Given the description of an element on the screen output the (x, y) to click on. 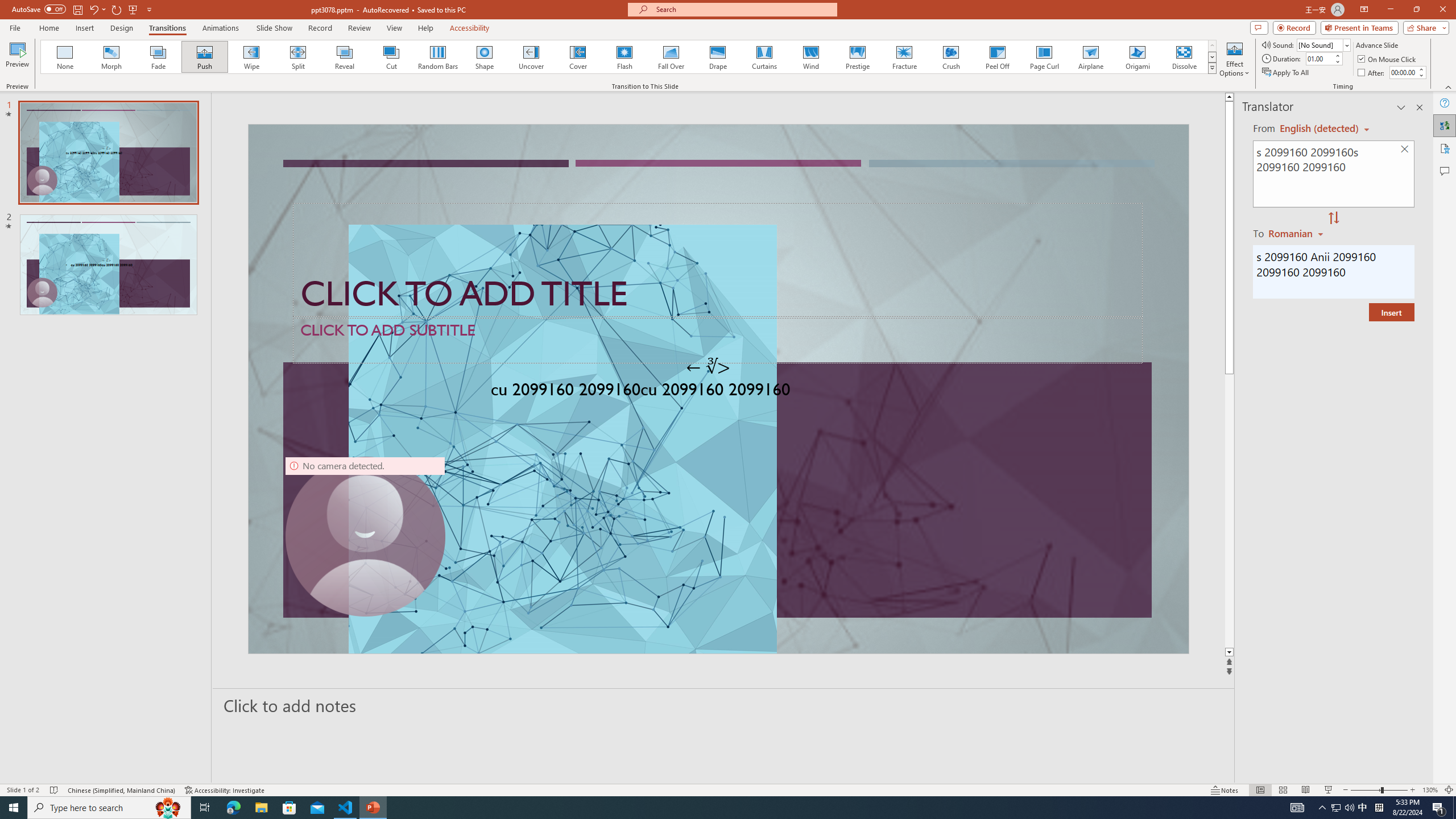
Uncover (531, 56)
After (1403, 72)
